Given the description of an element on the screen output the (x, y) to click on. 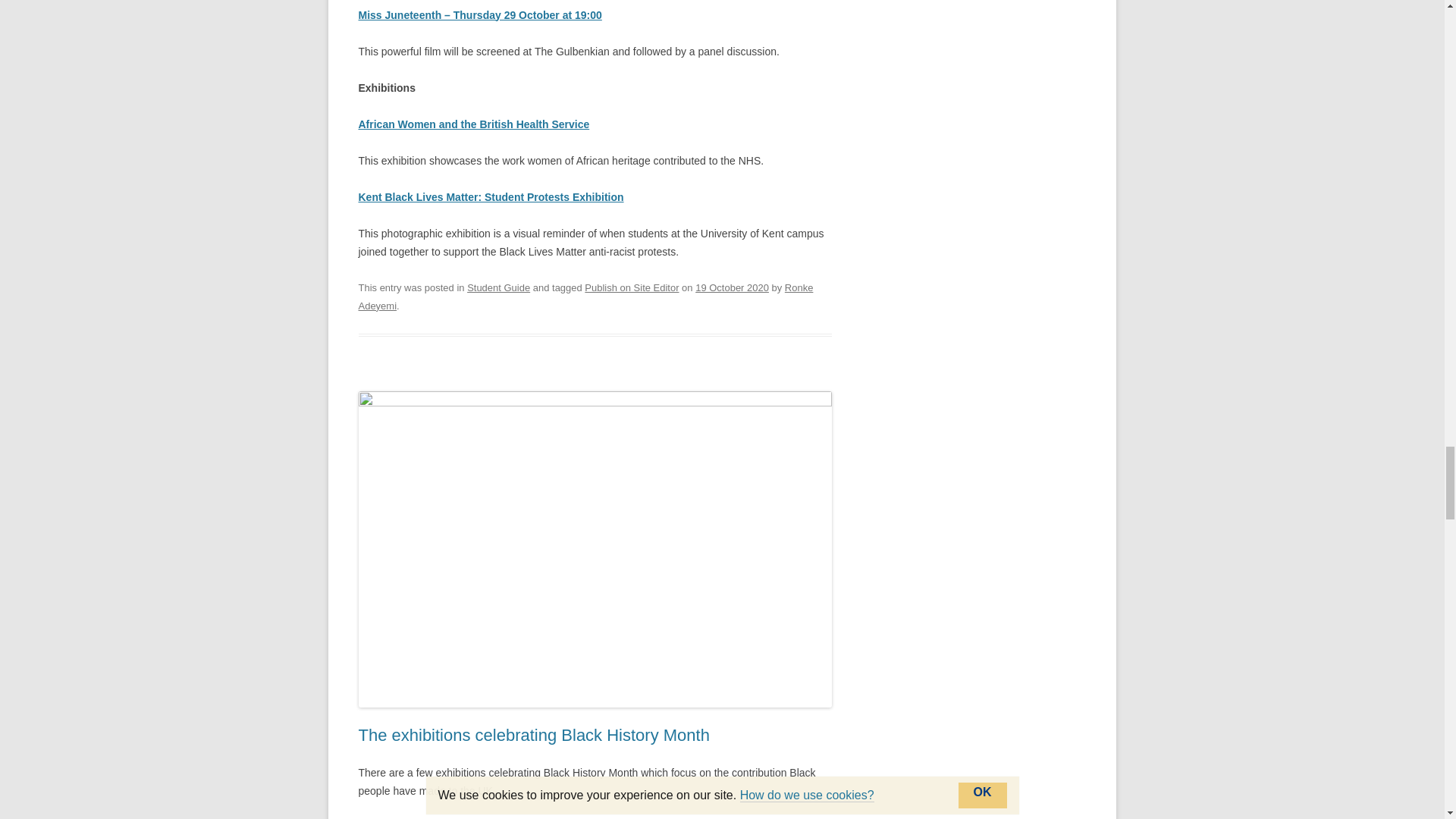
View all posts by Ronke Adeyemi (585, 296)
9:00 am (731, 287)
